Given the description of an element on the screen output the (x, y) to click on. 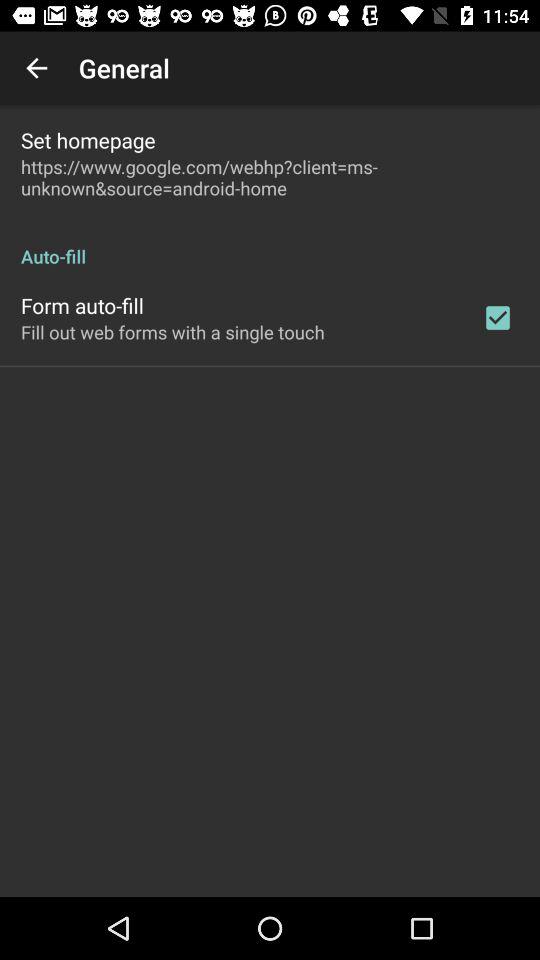
press icon to the right of the fill out web item (497, 317)
